Given the description of an element on the screen output the (x, y) to click on. 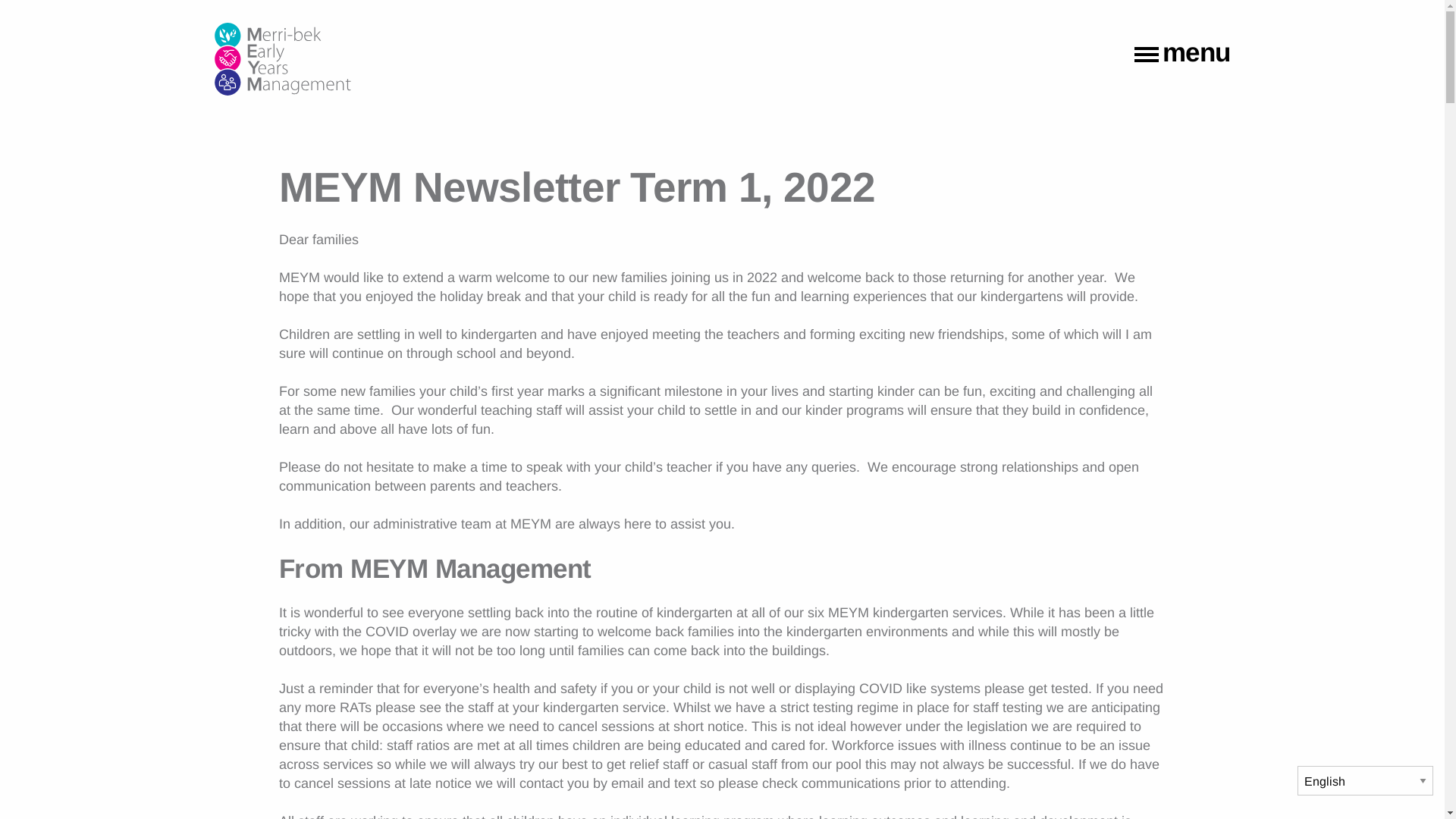
menu Element type: text (1182, 55)
